Given the description of an element on the screen output the (x, y) to click on. 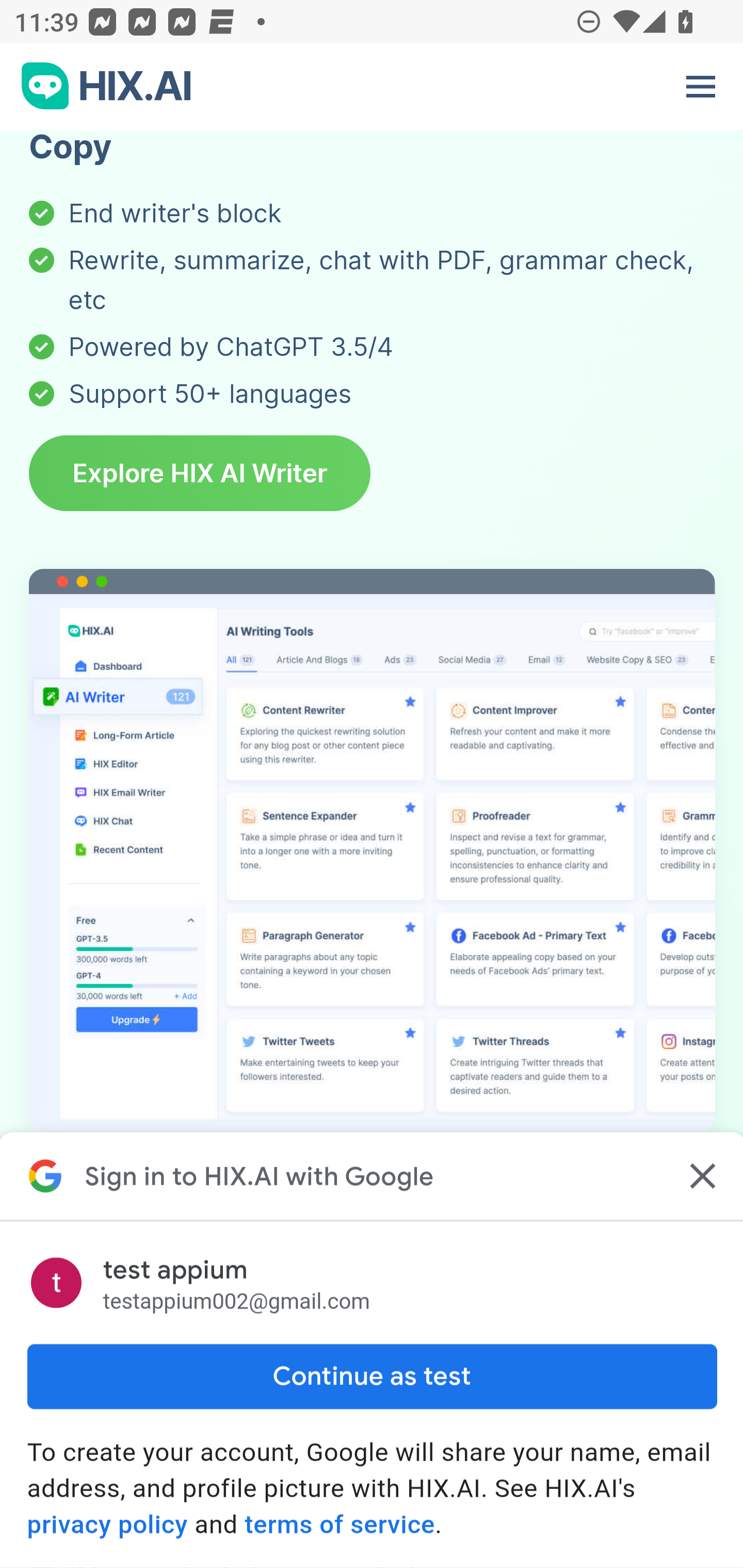
hix (107, 87)
Explore HIX AI Writer (200, 475)
Close (700, 1177)
Continue as test (371, 1378)
privacy policy (107, 1524)
terms of service (339, 1524)
